Given the description of an element on the screen output the (x, y) to click on. 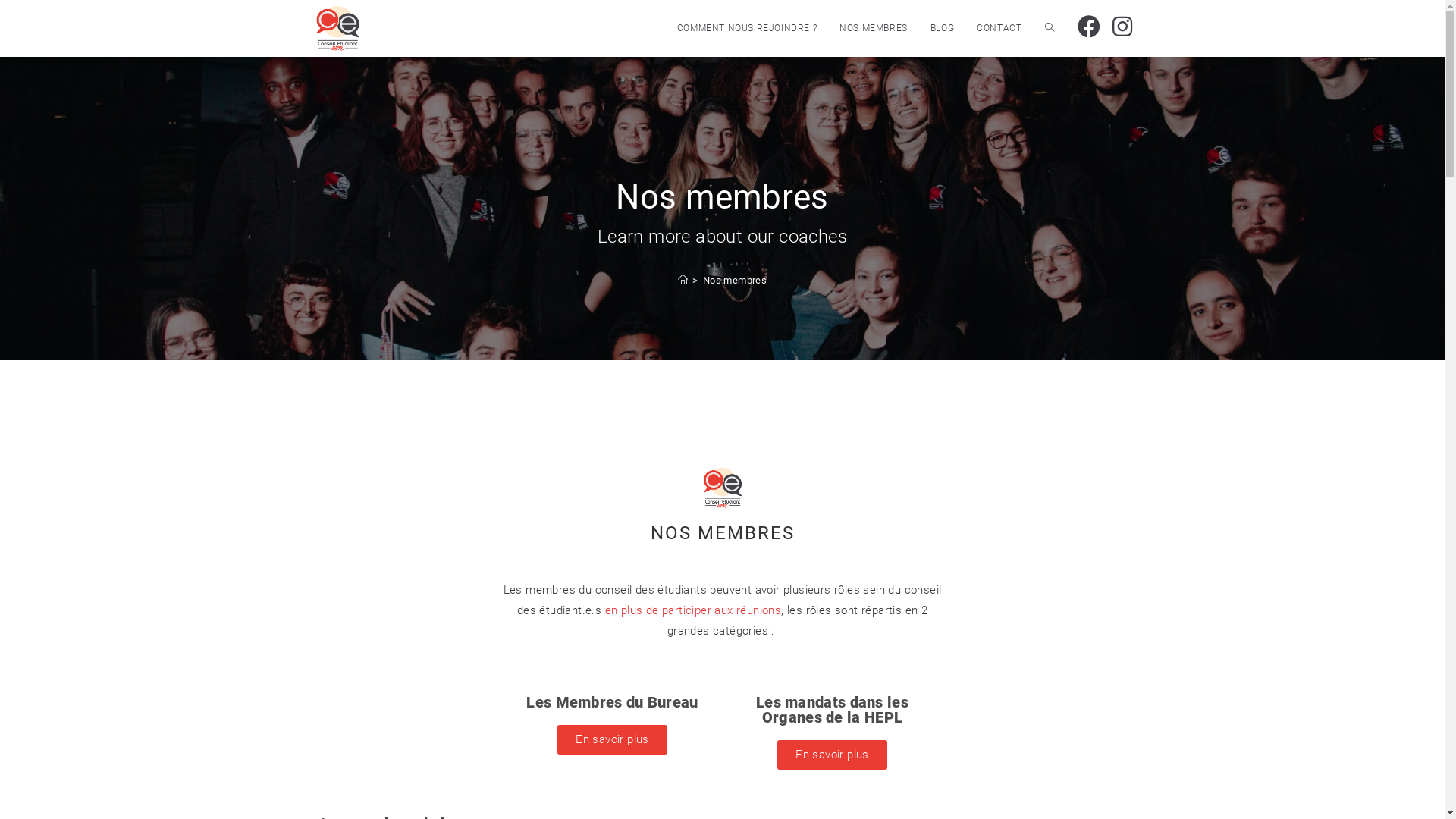
Nos membres Element type: text (734, 279)
En savoir plus Element type: text (612, 739)
CONTACT Element type: text (998, 28)
NOS MEMBRES Element type: text (873, 28)
En savoir plus Element type: text (832, 754)
COMMENT NOUS REJOINDRE ? Element type: text (746, 28)
BLOG Element type: text (942, 28)
